Given the description of an element on the screen output the (x, y) to click on. 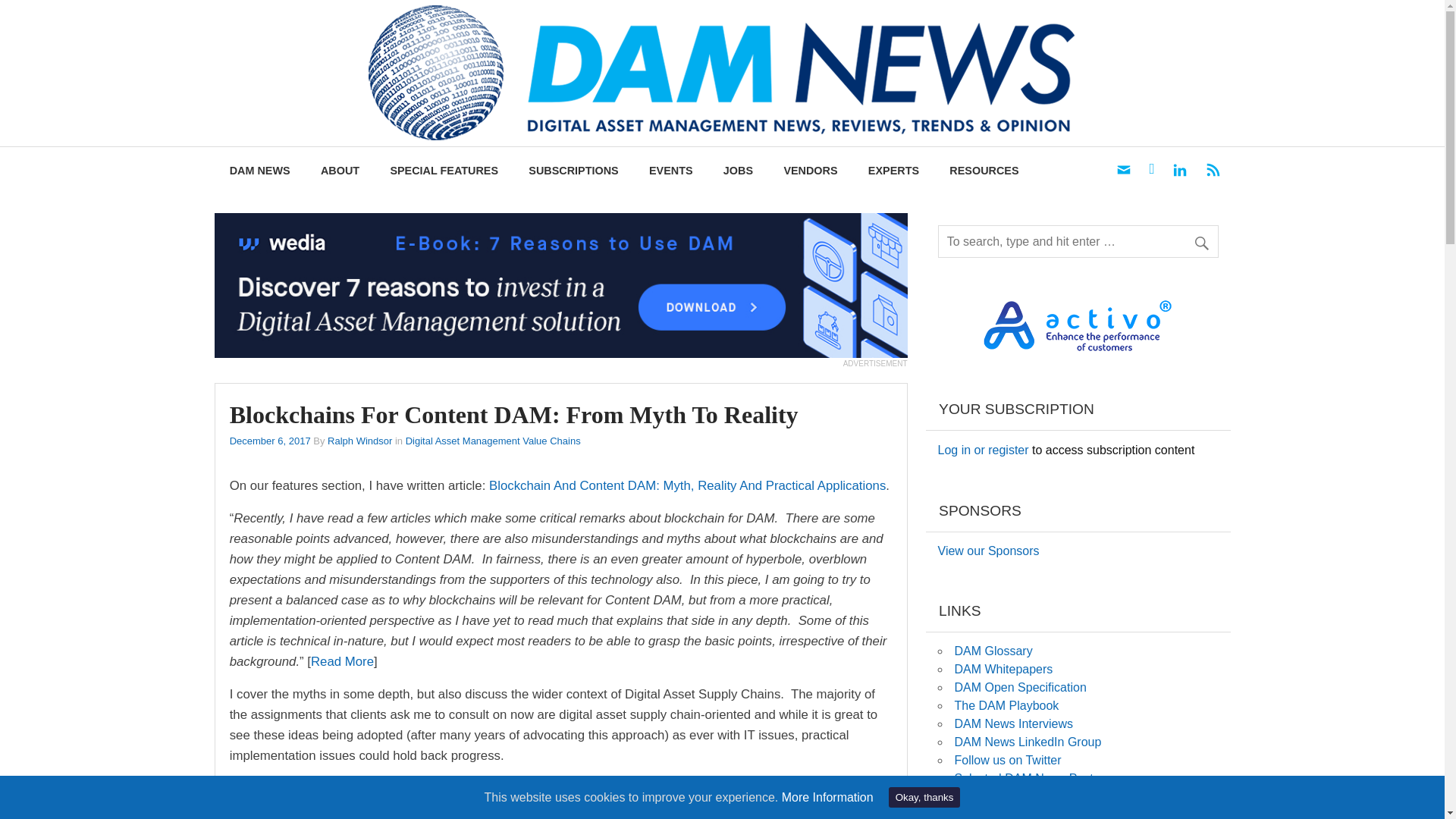
SPECIAL FEATURES (443, 170)
JOBS (737, 170)
EXPERTS (893, 170)
View all posts by Ralph Windsor (359, 440)
RESOURCES (983, 170)
ABOUT (339, 170)
4:32 pm (270, 440)
December 6, 2017 (270, 440)
SUBSCRIPTIONS (573, 170)
EVENTS (670, 170)
VENDORS (809, 170)
DAM NEWS (259, 170)
The DAM News dedicated Linked In Group (1026, 741)
Digital Asset Management Books (985, 796)
